Given the description of an element on the screen output the (x, y) to click on. 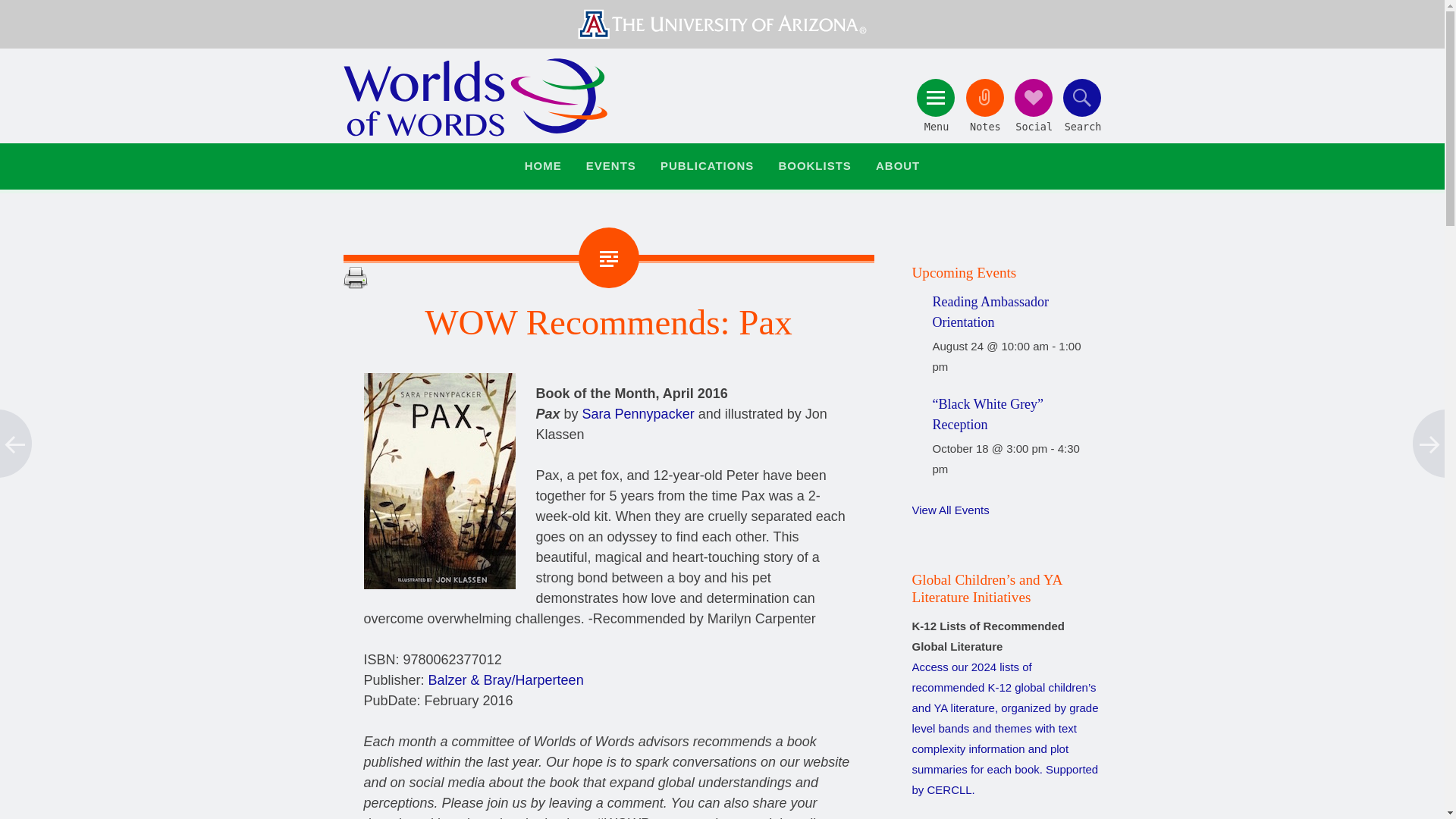
Worlds of Words (474, 97)
BOOKLISTS (813, 166)
EVENTS (611, 166)
PUBLICATIONS (707, 166)
ABOUT (898, 166)
HOME (543, 166)
